Given the description of an element on the screen output the (x, y) to click on. 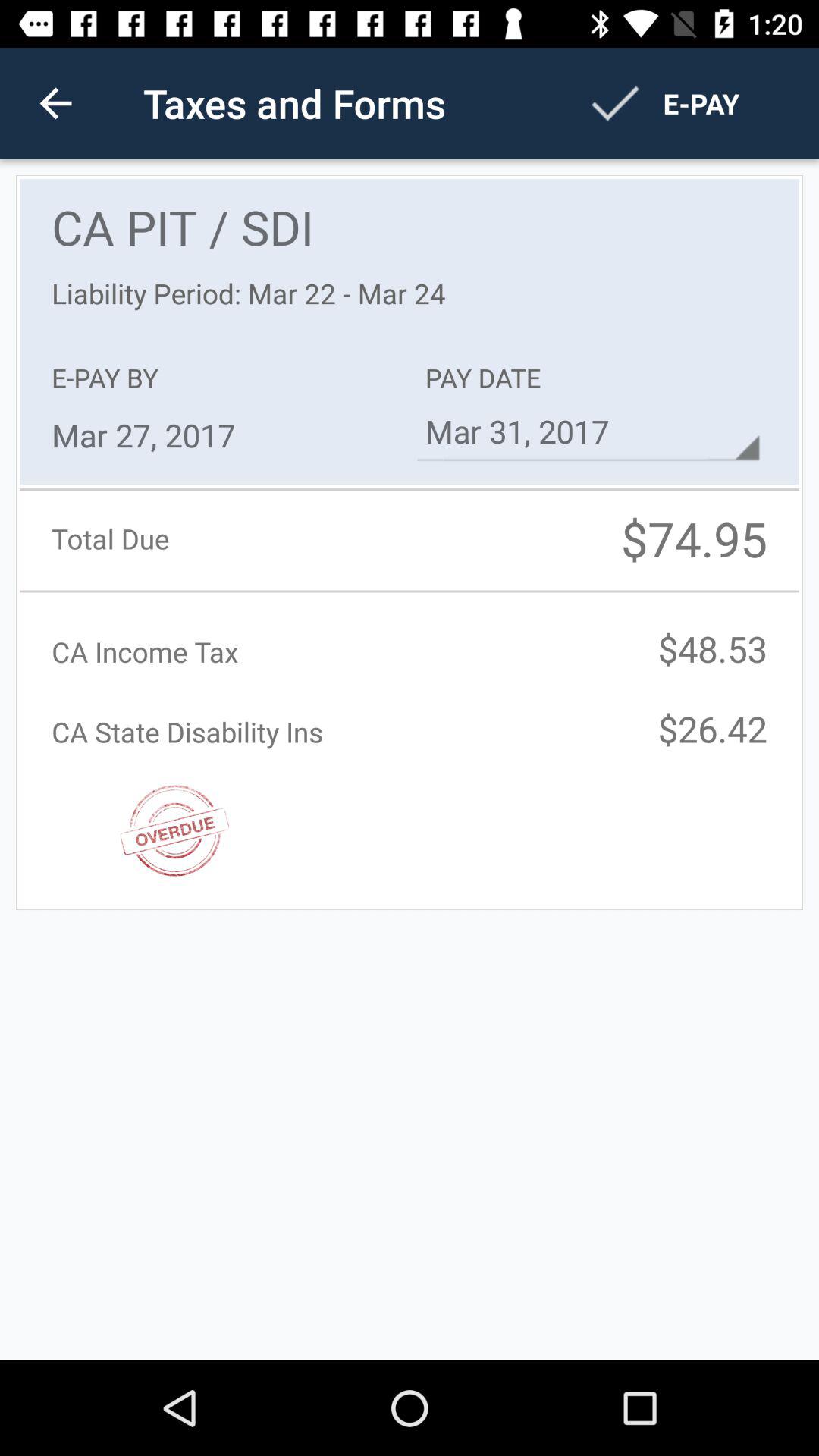
select the icon next to the taxes and forms item (55, 103)
